Given the description of an element on the screen output the (x, y) to click on. 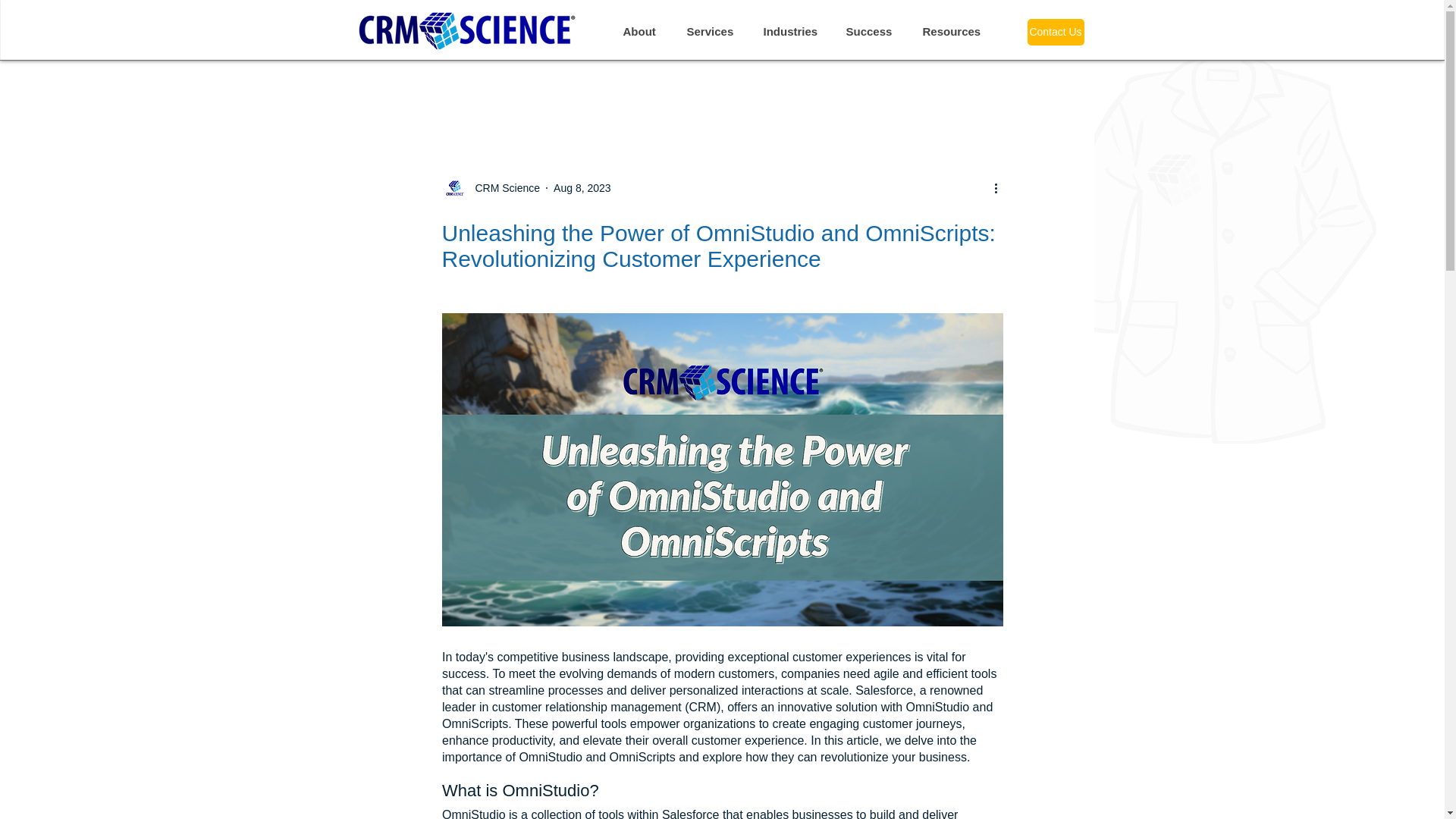
Success (872, 29)
CRM Science (502, 188)
Contact Us (1054, 31)
Aug 8, 2023 (582, 187)
